Given the description of an element on the screen output the (x, y) to click on. 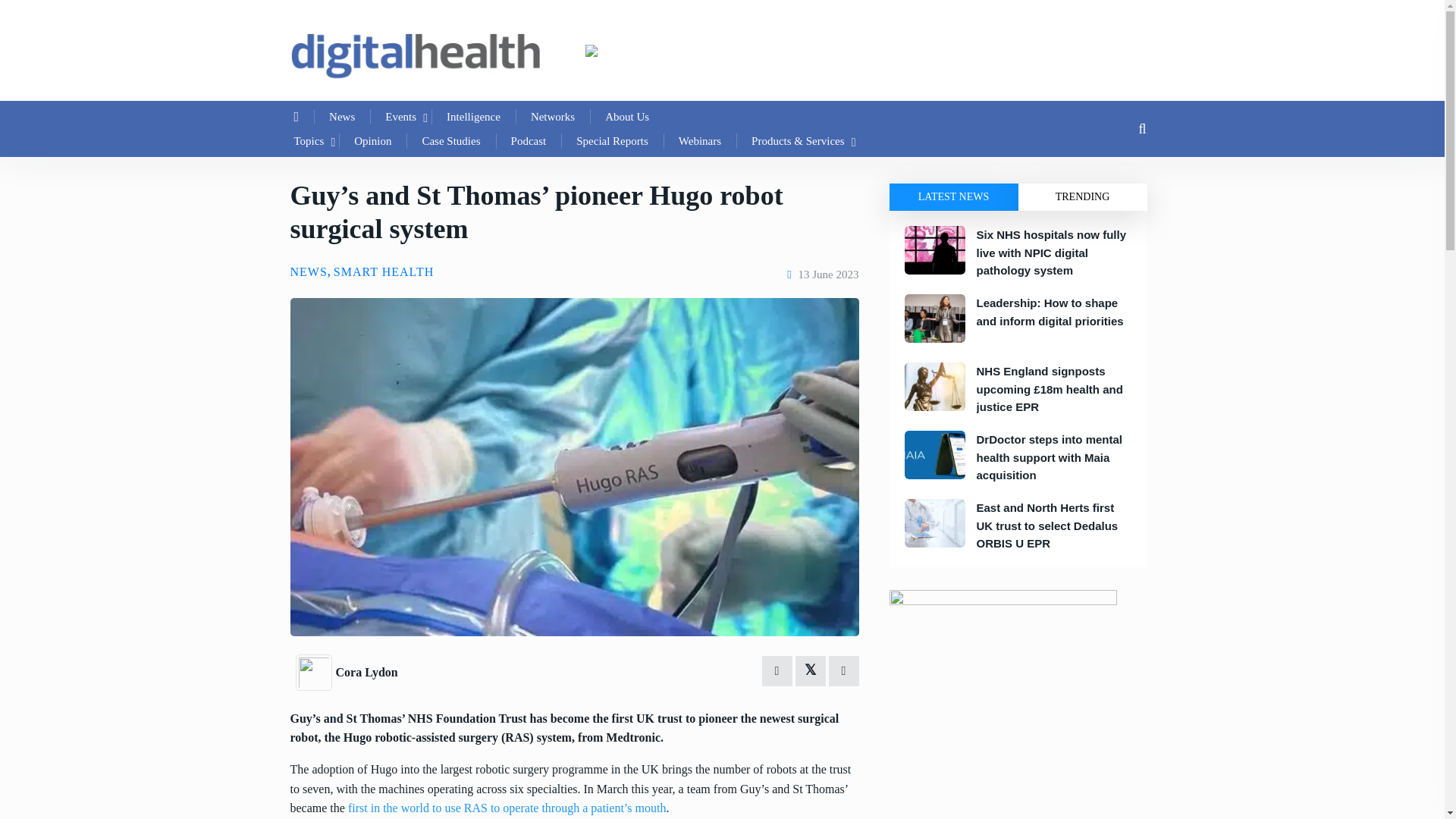
Cora Lydon (365, 671)
Case Studies (450, 140)
Topics (309, 140)
Opinion (372, 140)
Podcast (529, 140)
Special Reports (611, 140)
News (341, 116)
Cora Lydon (315, 670)
Webinars (699, 140)
Intelligence (472, 116)
